Given the description of an element on the screen output the (x, y) to click on. 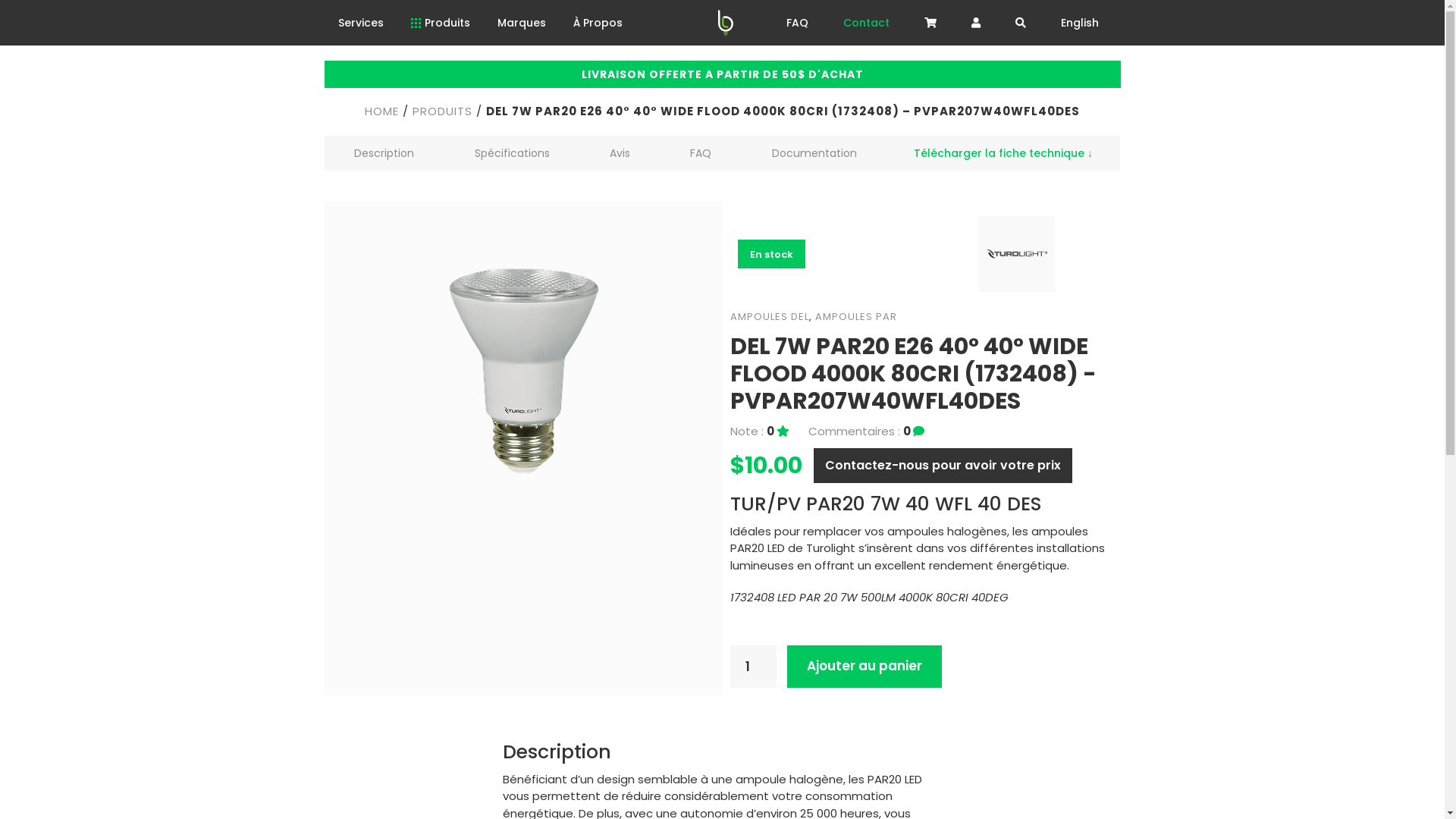
FAQ Element type: text (796, 22)
PRODUITS Element type: text (442, 111)
AMPOULES DEL Element type: text (768, 316)
Description Element type: text (383, 151)
Contact Element type: text (865, 22)
Marques Element type: text (521, 22)
AMPOULES PAR Element type: text (855, 316)
FAQ Element type: text (700, 151)
Documentation Element type: text (814, 151)
Services Element type: text (360, 22)
Produits Element type: text (440, 22)
HOME Element type: text (381, 111)
Contactez-nous pour avoir votre prix Element type: text (941, 464)
English Element type: text (1079, 22)
Ajouter au panier Element type: text (864, 665)
Avis Element type: text (619, 151)
